Given the description of an element on the screen output the (x, y) to click on. 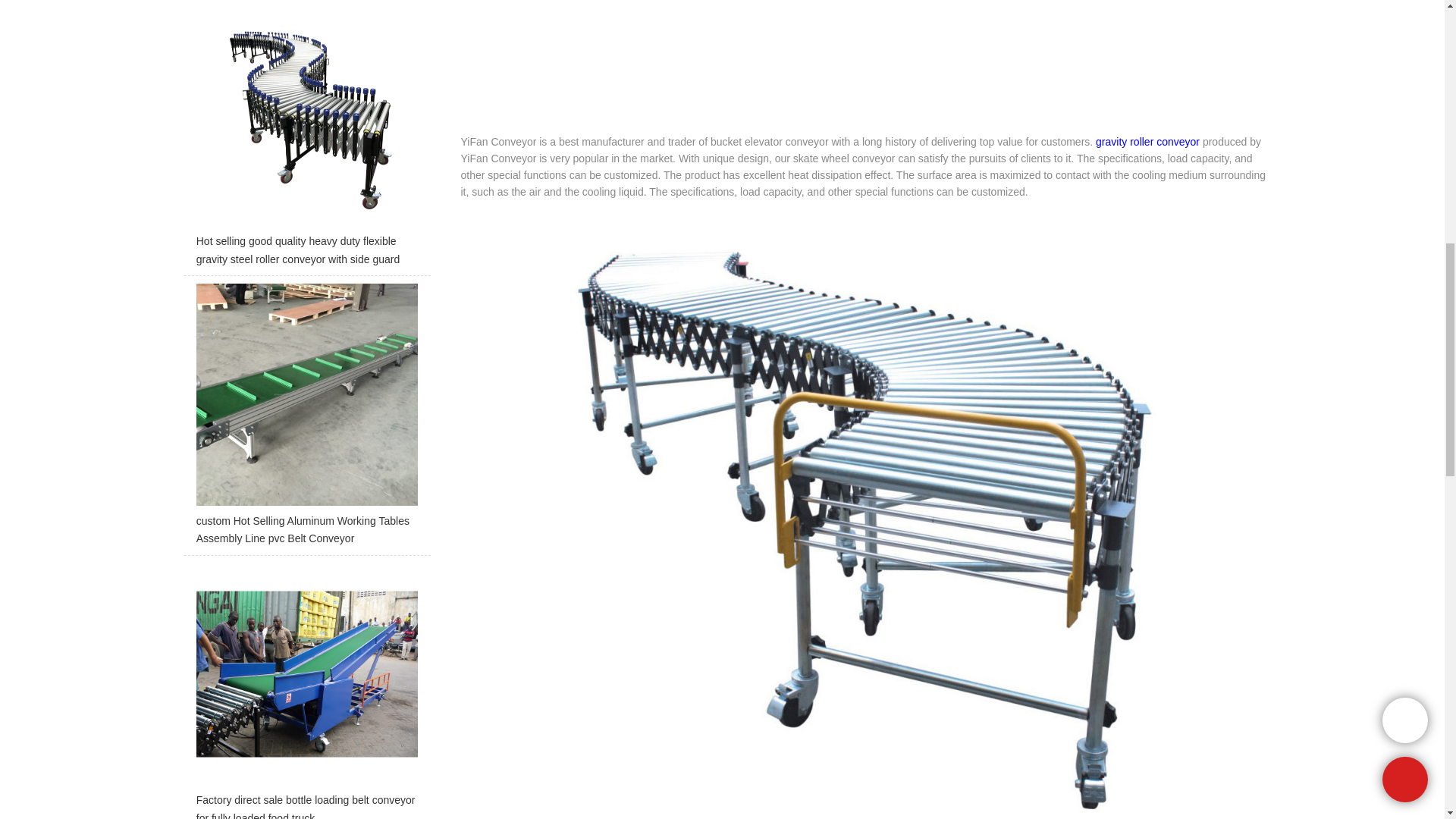
gravity roller conveyor (1147, 141)
